Given the description of an element on the screen output the (x, y) to click on. 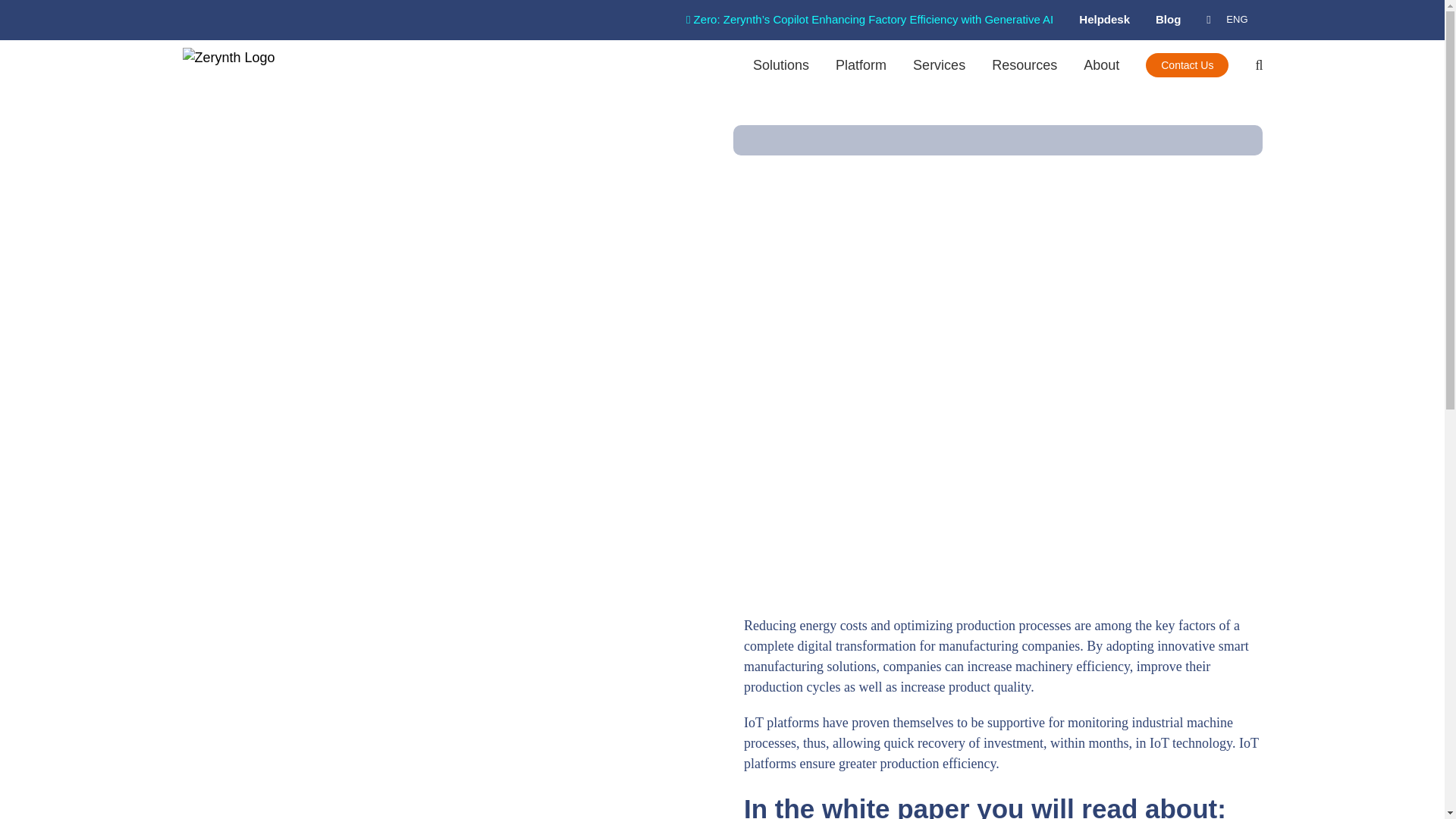
ENG (1229, 19)
Solutions (780, 65)
Blog (1170, 19)
Energy-Efficiency-Optimization-white-paper-tablet-image (441, 711)
Helpdesk (1106, 19)
Platform (860, 65)
